Given the description of an element on the screen output the (x, y) to click on. 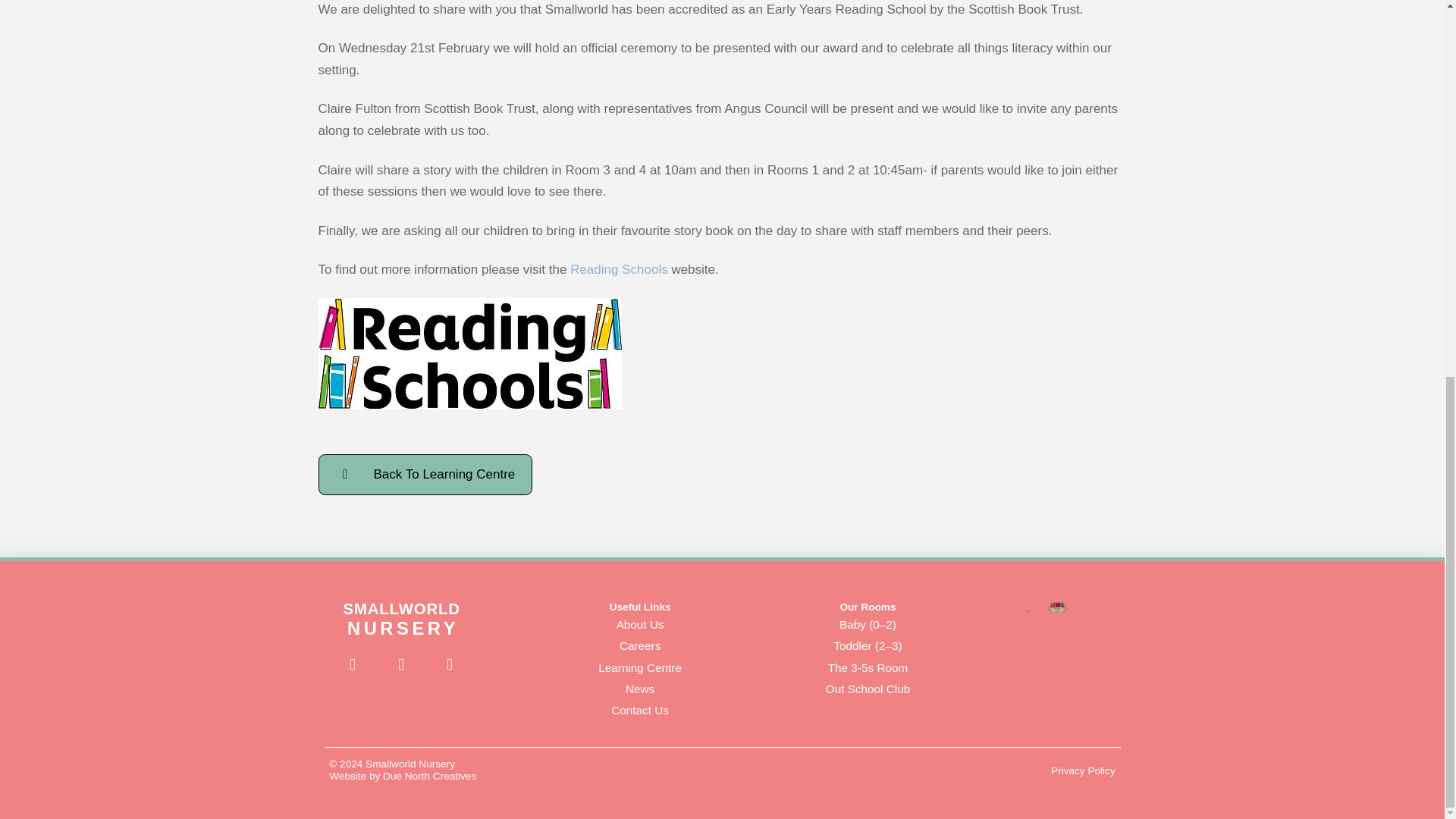
Careers (640, 645)
Contact Us (640, 710)
Learning Centre (640, 667)
Back To Learning Centre (425, 473)
About Us (640, 624)
Reading Schools (619, 269)
News (640, 689)
